Given the description of an element on the screen output the (x, y) to click on. 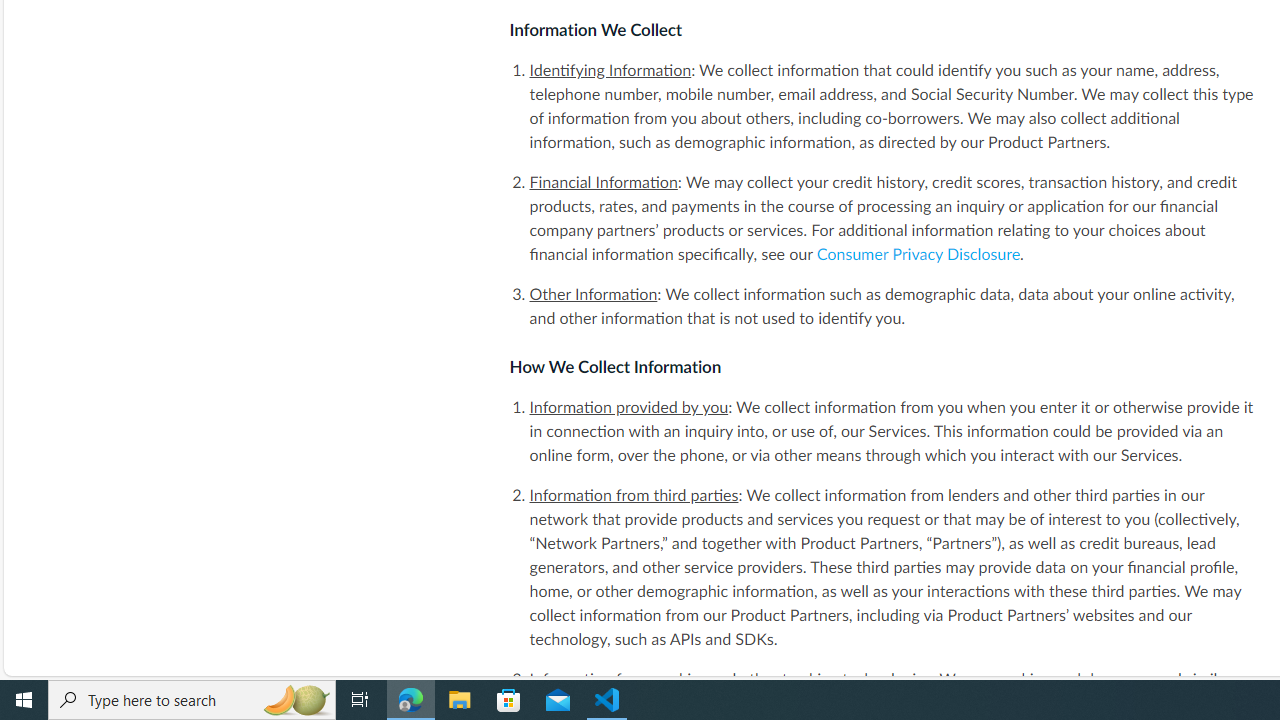
Consumer Privacy Disclosure (918, 254)
